Given the description of an element on the screen output the (x, y) to click on. 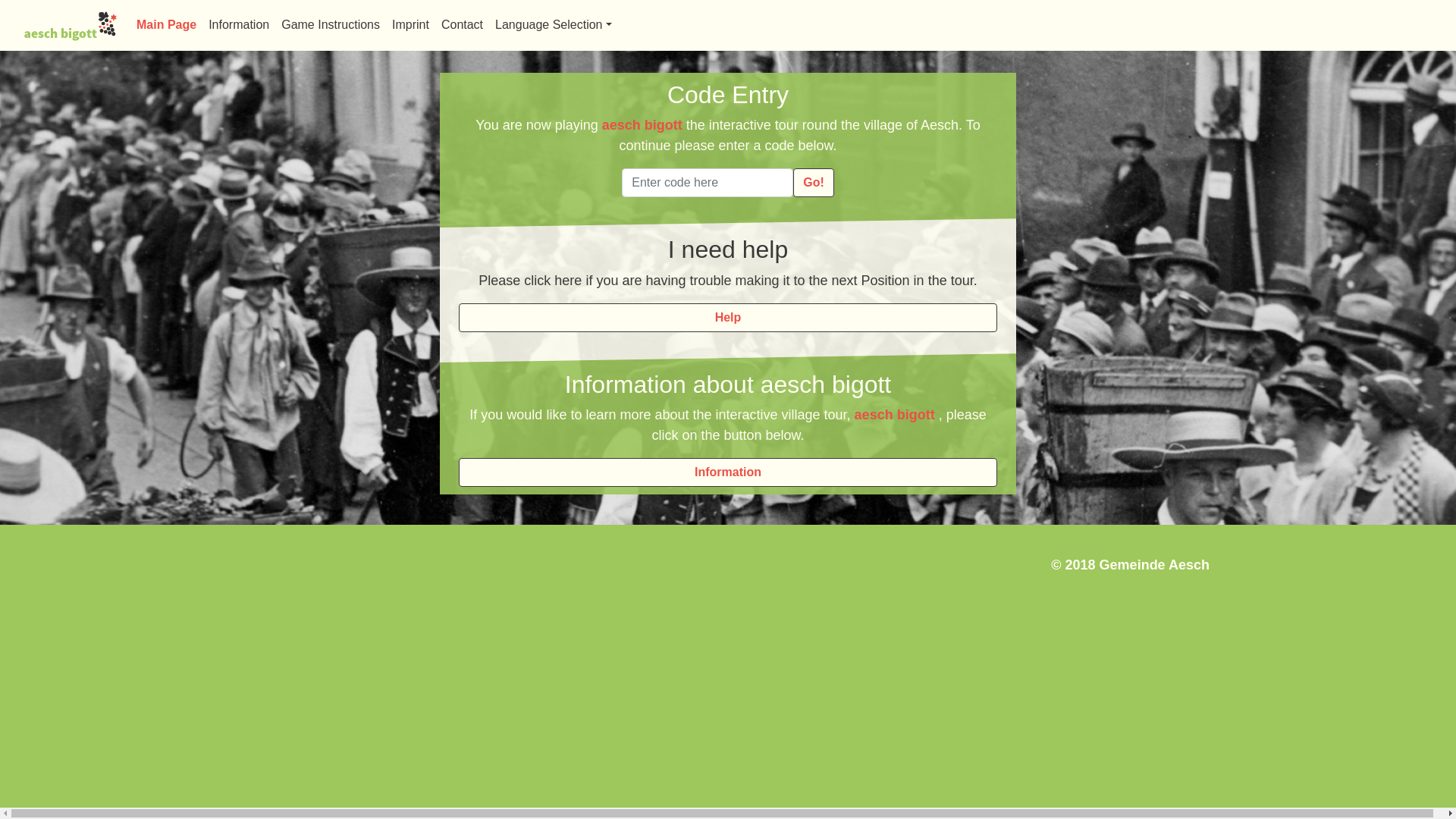
Help Element type: text (727, 317)
Information Element type: text (238, 24)
Language Selection Element type: text (553, 24)
Go! Element type: text (813, 182)
Imprint Element type: text (410, 24)
Main Page Element type: text (166, 24)
Game Instructions Element type: text (330, 24)
Contact Element type: text (462, 24)
Information Element type: text (727, 472)
